Given the description of an element on the screen output the (x, y) to click on. 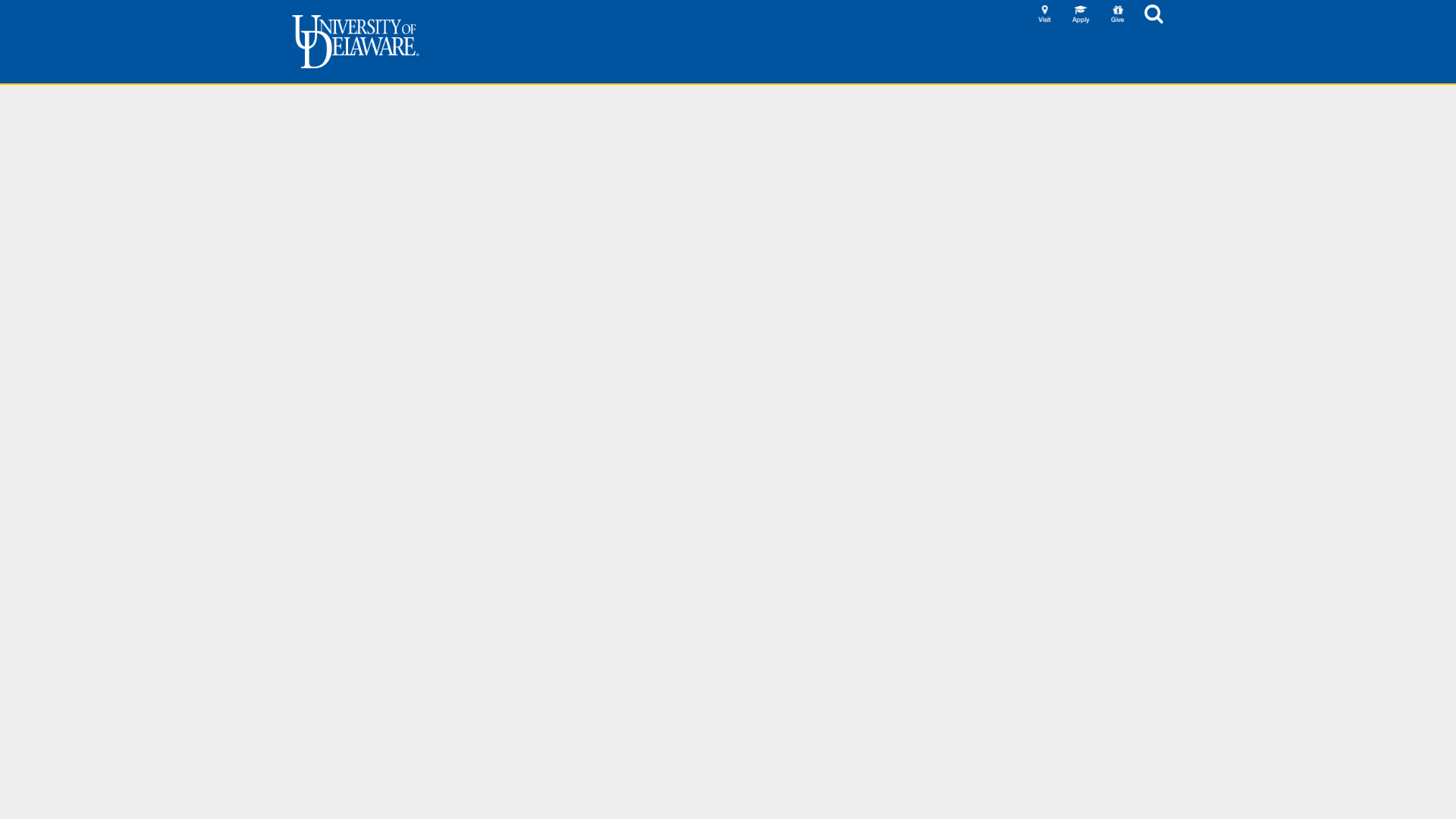
Apply (1080, 13)
Give (1117, 13)
Visit (1044, 13)
University of Delaware (355, 41)
Search (1153, 13)
